Given the description of an element on the screen output the (x, y) to click on. 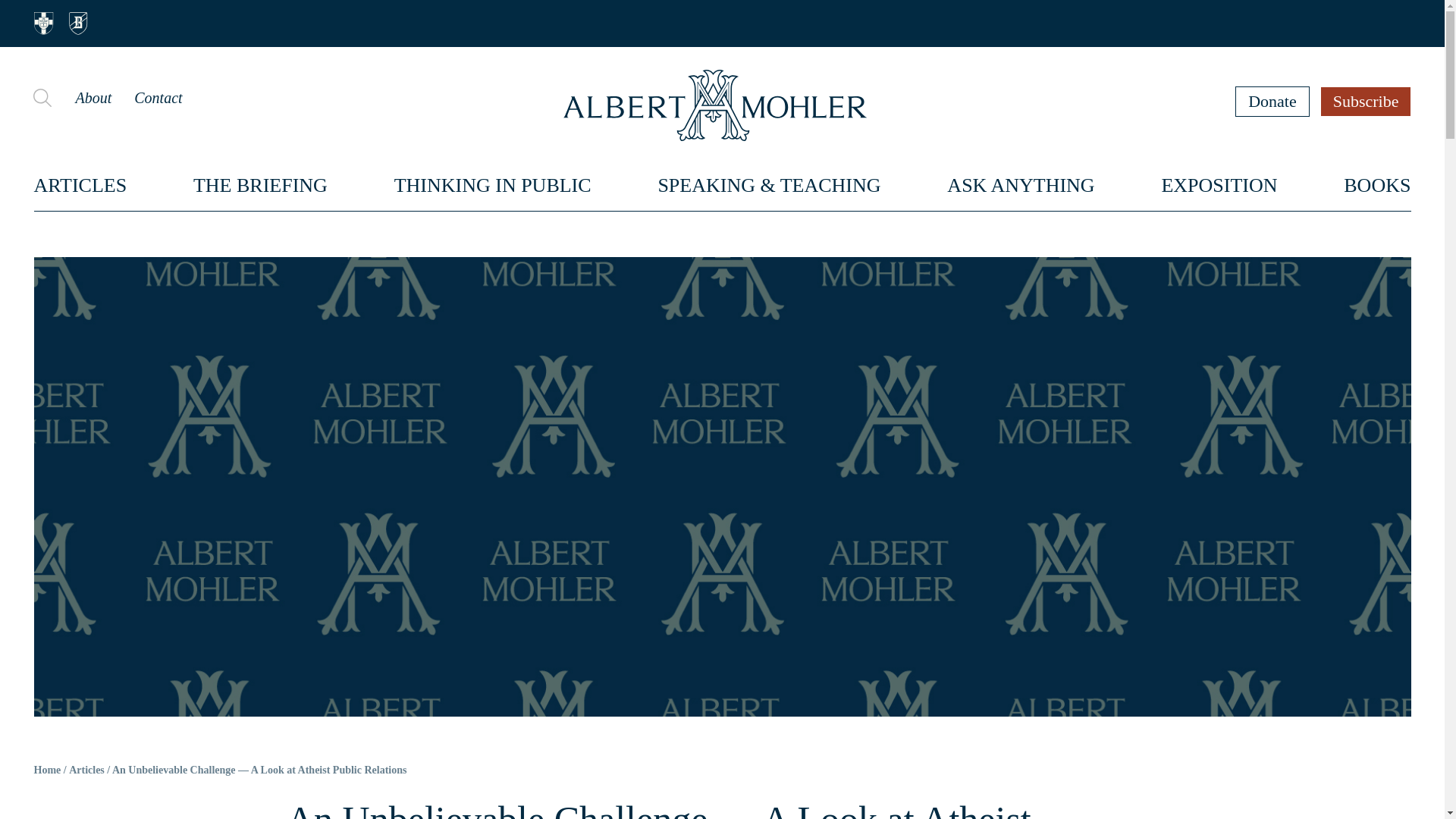
THINKING IN PUBLIC (492, 185)
Contact (157, 97)
THE BRIEFING (260, 185)
Home (47, 770)
About (93, 97)
EXPOSITION (1218, 185)
Articles (86, 770)
BOOKS (1376, 185)
Subscribe (1366, 101)
ASK ANYTHING (1020, 185)
